Given the description of an element on the screen output the (x, y) to click on. 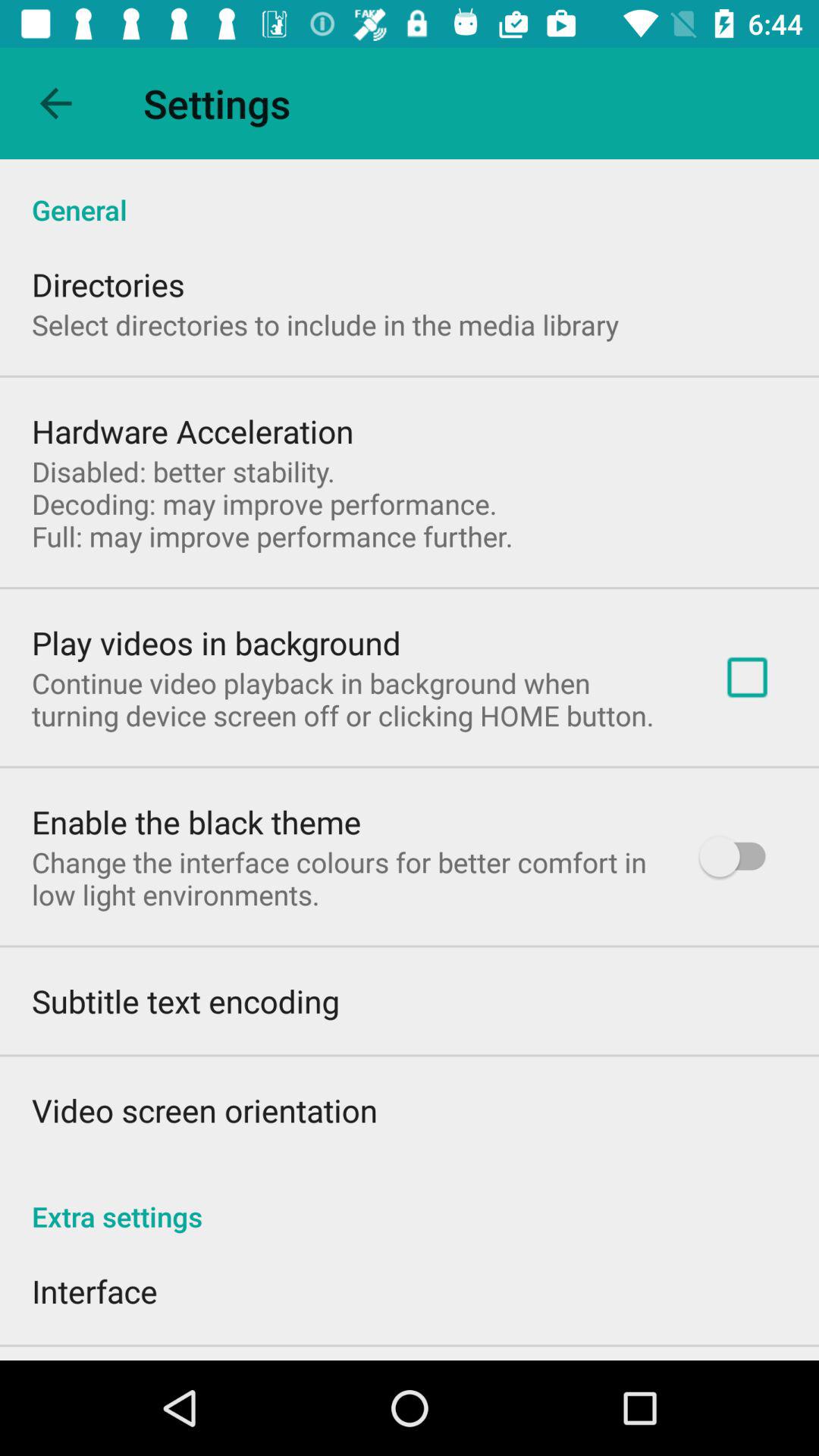
launch item to the left of the settings app (55, 103)
